Given the description of an element on the screen output the (x, y) to click on. 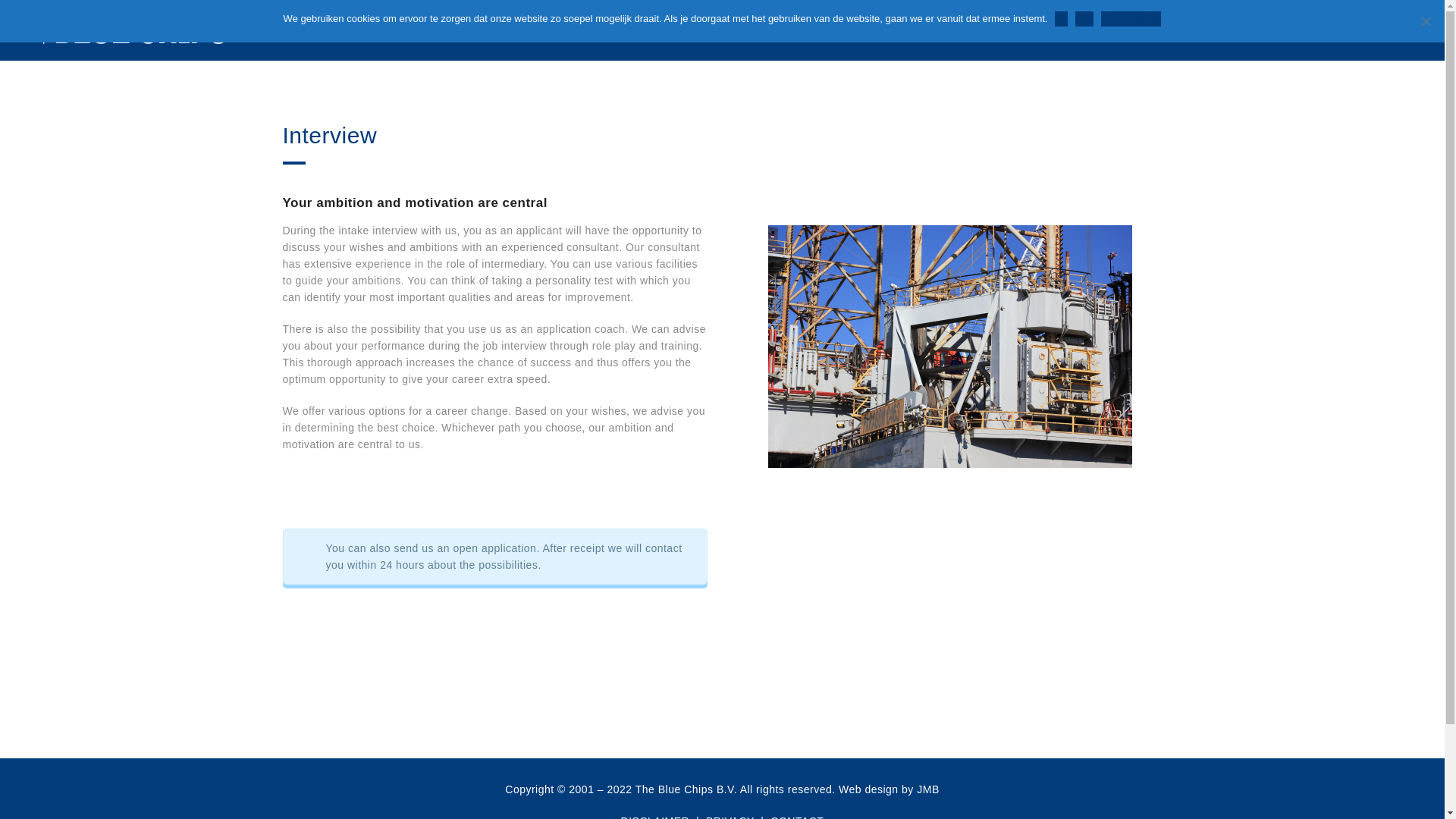
WIJ ZIJN (990, 30)
ENGLISH (1375, 30)
VACATURES (1244, 30)
Nee (1425, 20)
Privacy policy (1130, 18)
PRIVACY (730, 816)
Nee (1084, 18)
CONTACT (1313, 30)
DISCLAIMER (655, 816)
WAT WE DOEN (1064, 30)
JMB (928, 788)
The Blue Chips (133, 30)
CONTACT (797, 816)
INTAKEGESPREK (1157, 30)
